Given the description of an element on the screen output the (x, y) to click on. 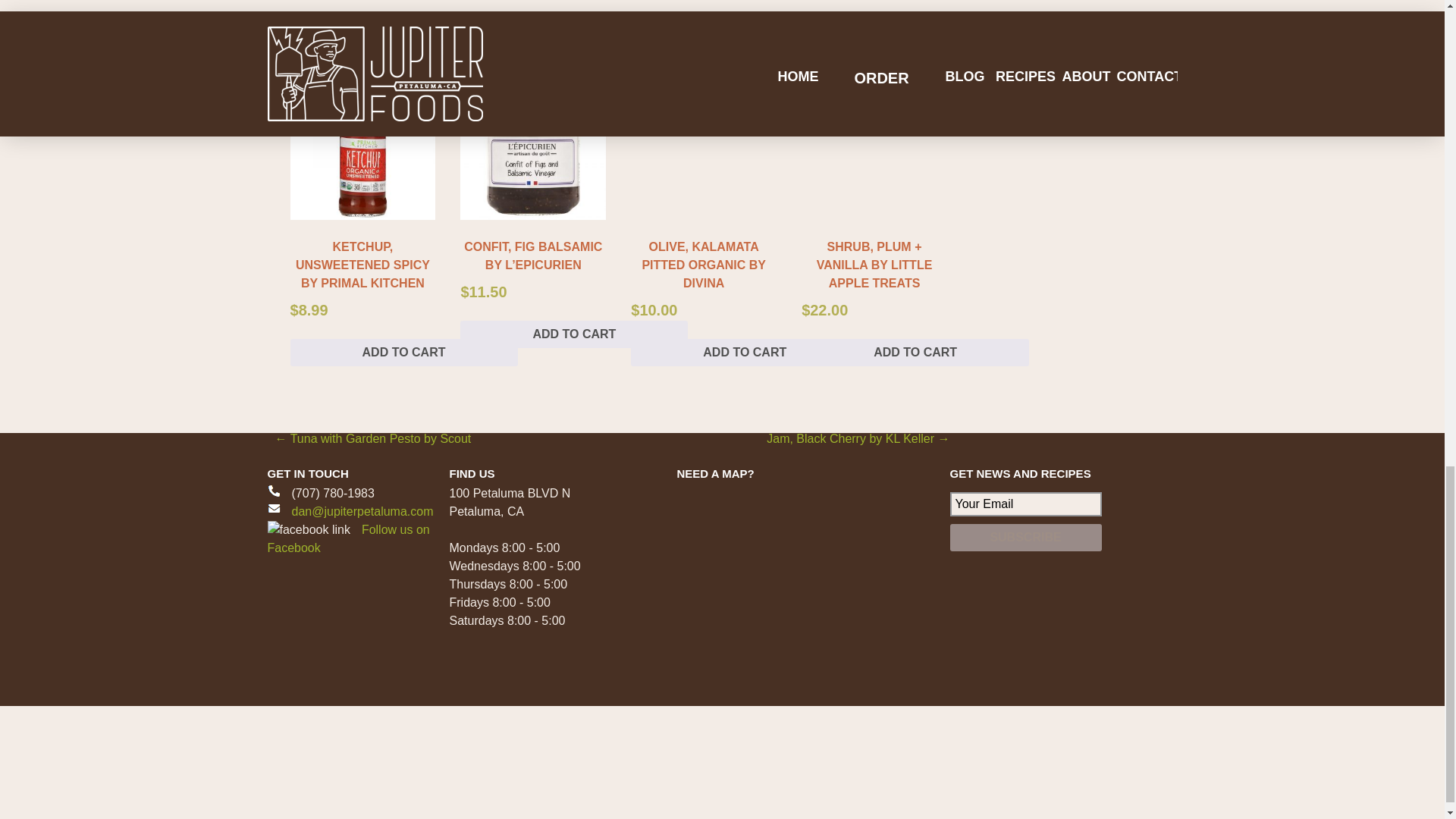
ADD TO CART (573, 334)
ADD TO CART (744, 352)
Subscribe (1024, 537)
ADD TO CART (402, 352)
ADD TO CART (915, 352)
